Given the description of an element on the screen output the (x, y) to click on. 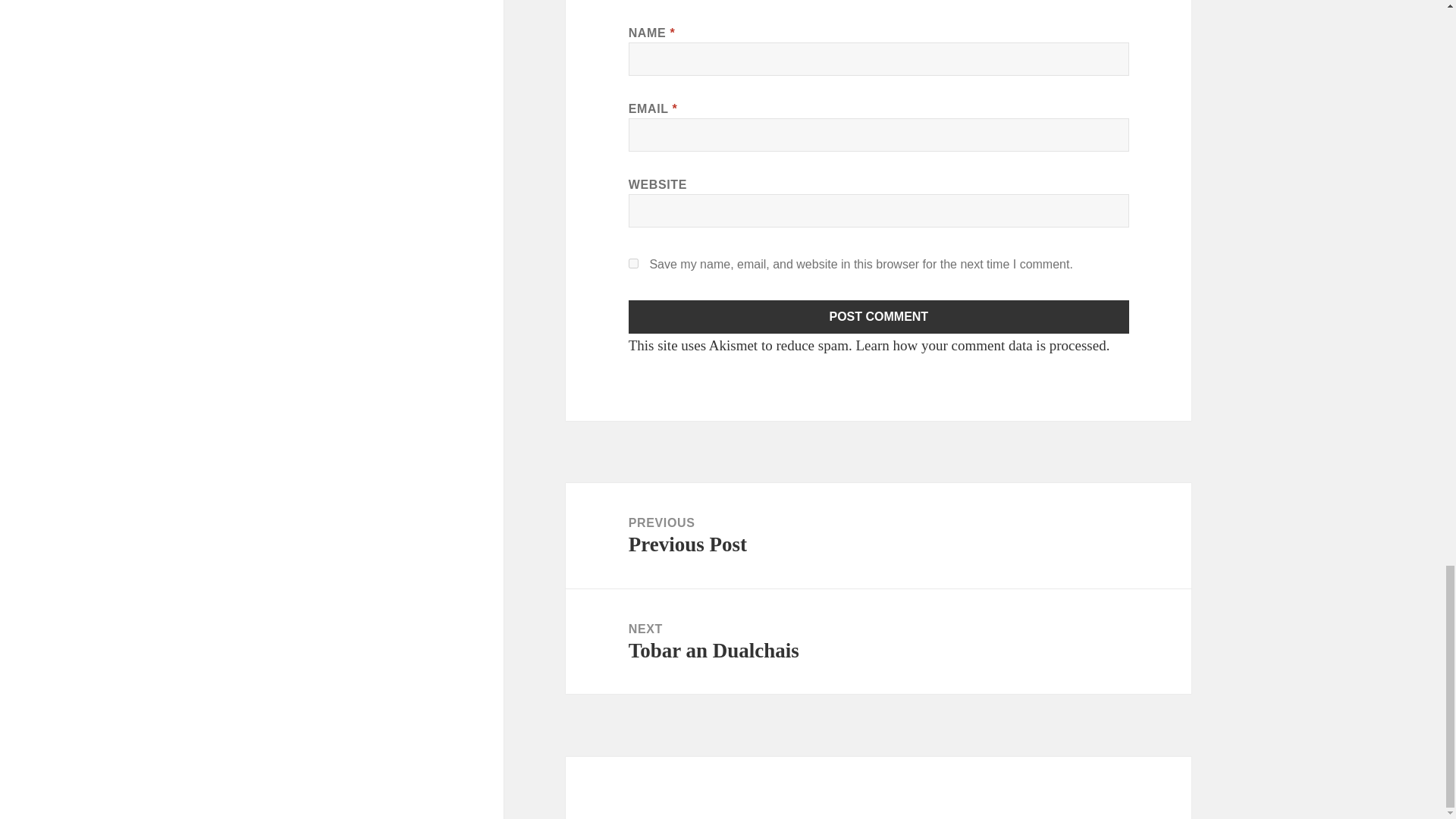
Post Comment (878, 316)
yes (633, 263)
